Given the description of an element on the screen output the (x, y) to click on. 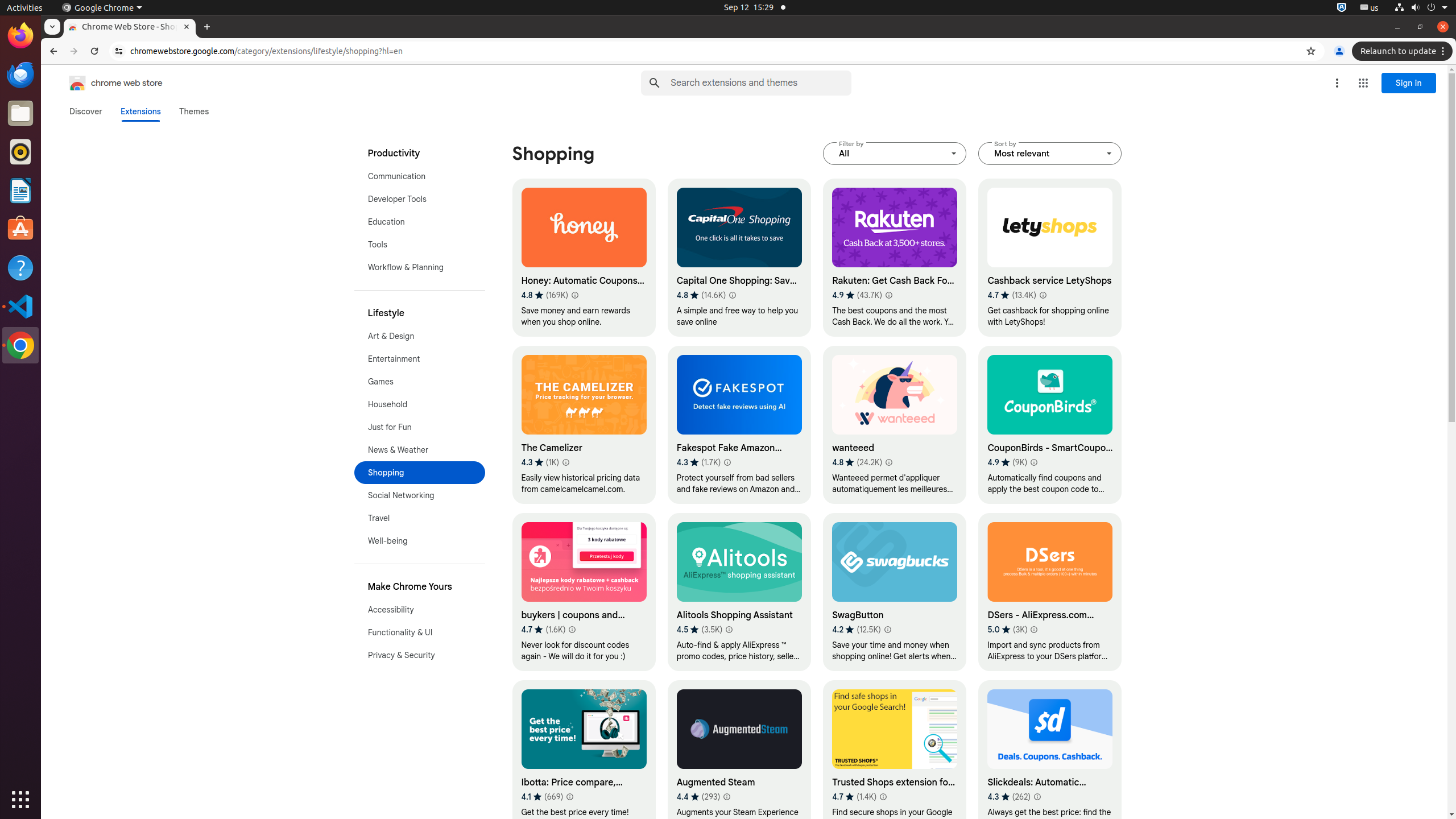
Learn more about results and reviews "DSers - AliExpress.com Product Importer" Element type: push-button (1033, 629)
Visual Studio Code Element type: push-button (20, 306)
Travel Element type: menu-item (419, 517)
Extensions Element type: page-tab (140, 111)
Household Element type: menu-item (419, 404)
